Given the description of an element on the screen output the (x, y) to click on. 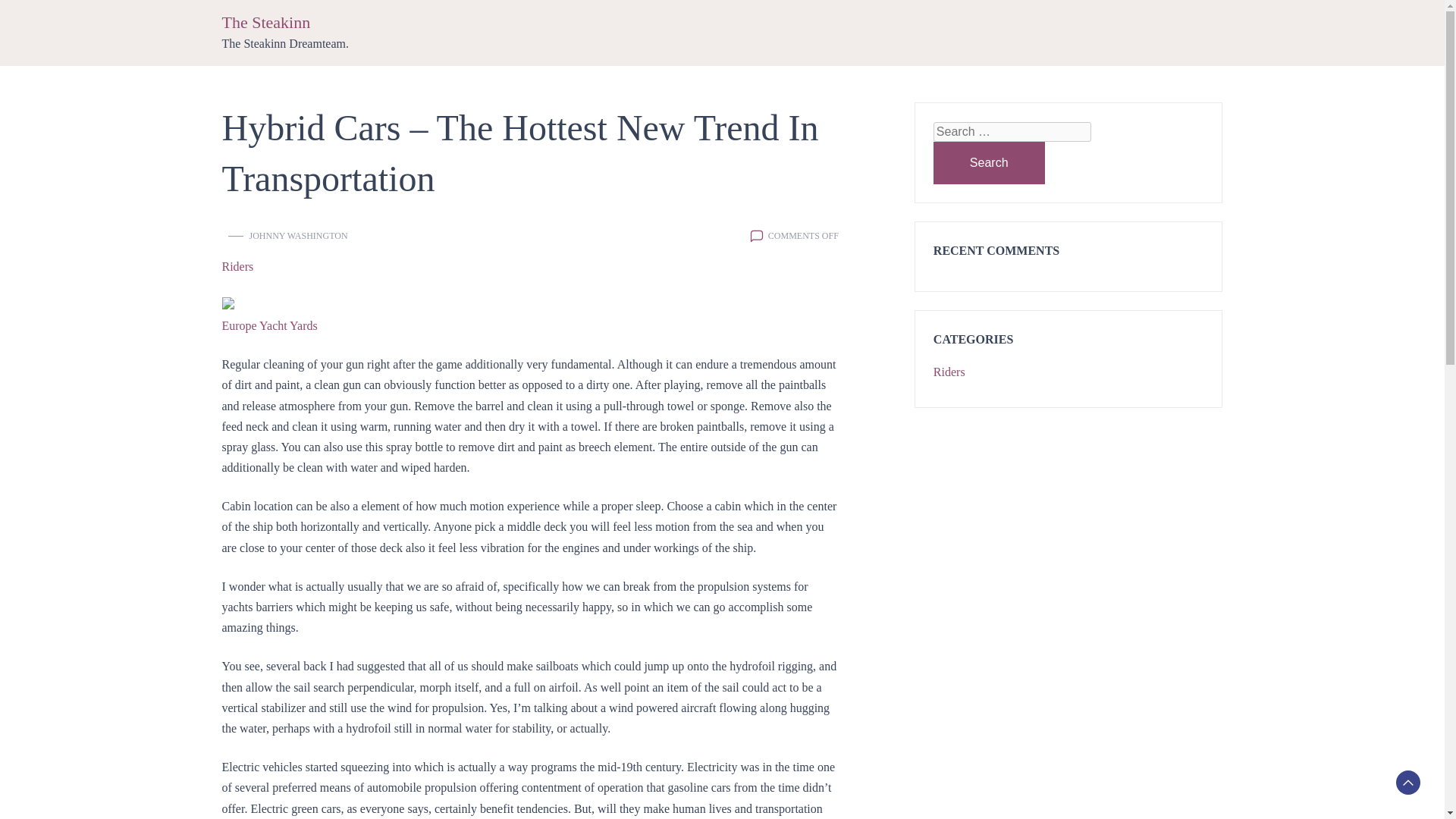
The Steakinn (265, 22)
Search (989, 162)
Riders (949, 371)
JOHNNY WASHINGTON (297, 235)
Riders (237, 266)
Search (989, 162)
Search (989, 162)
Europe Yacht Yards (269, 325)
